Given the description of an element on the screen output the (x, y) to click on. 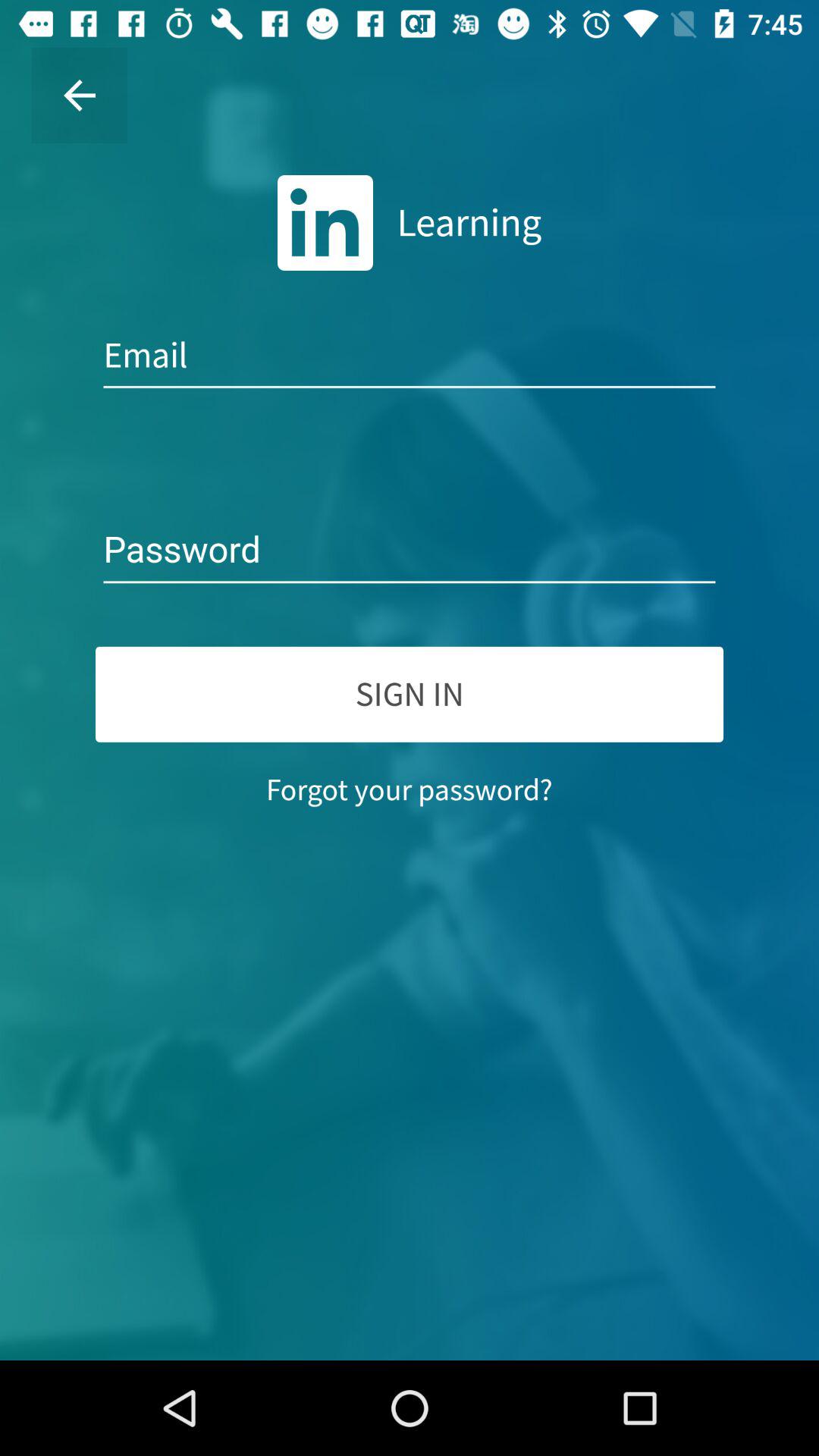
enter email (409, 355)
